Given the description of an element on the screen output the (x, y) to click on. 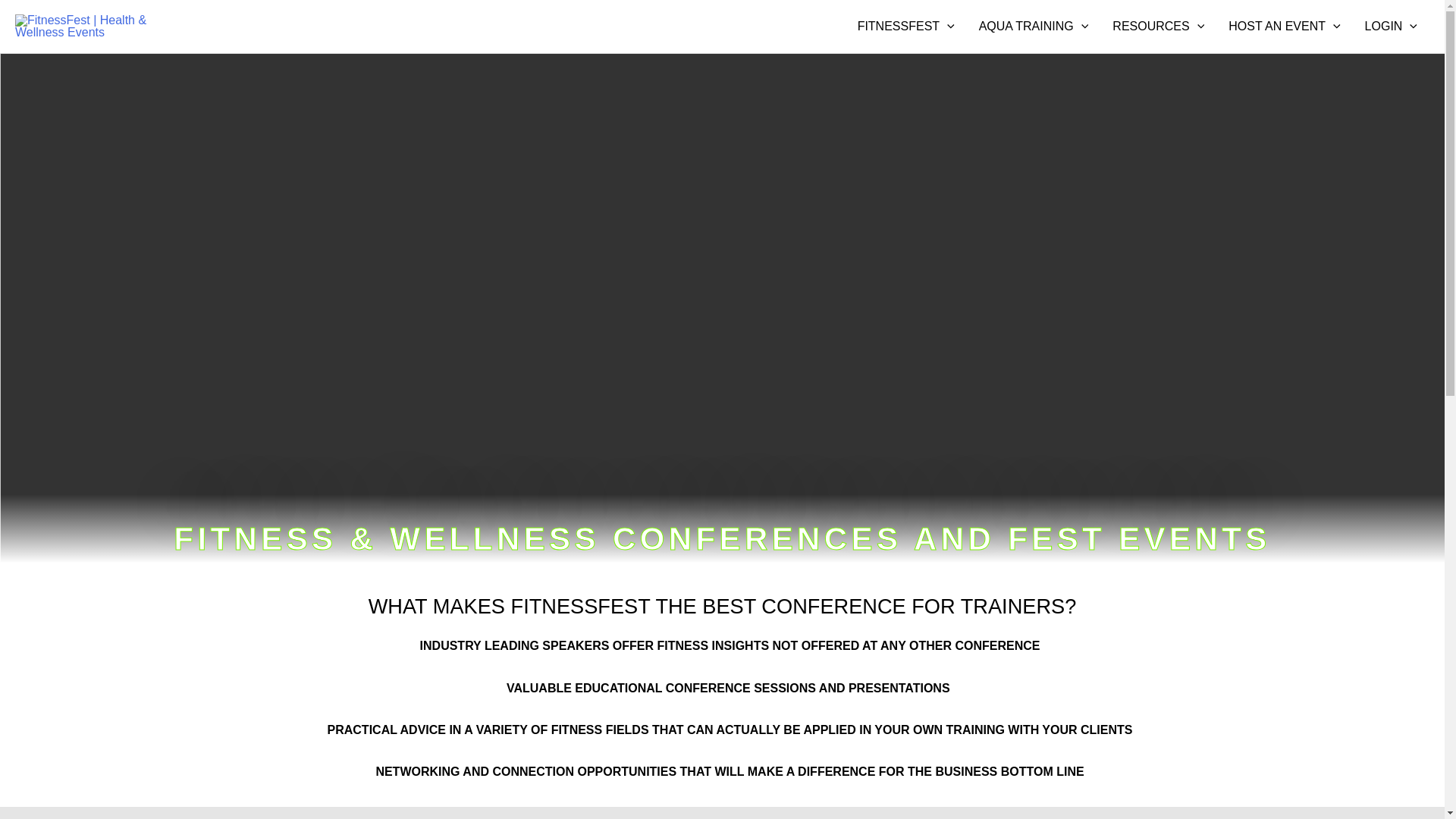
RESOURCES (1157, 26)
FITNESSFEST (905, 26)
AQUA TRAINING (1033, 26)
HOST AN EVENT (1283, 26)
LOGIN (1390, 26)
